Given the description of an element on the screen output the (x, y) to click on. 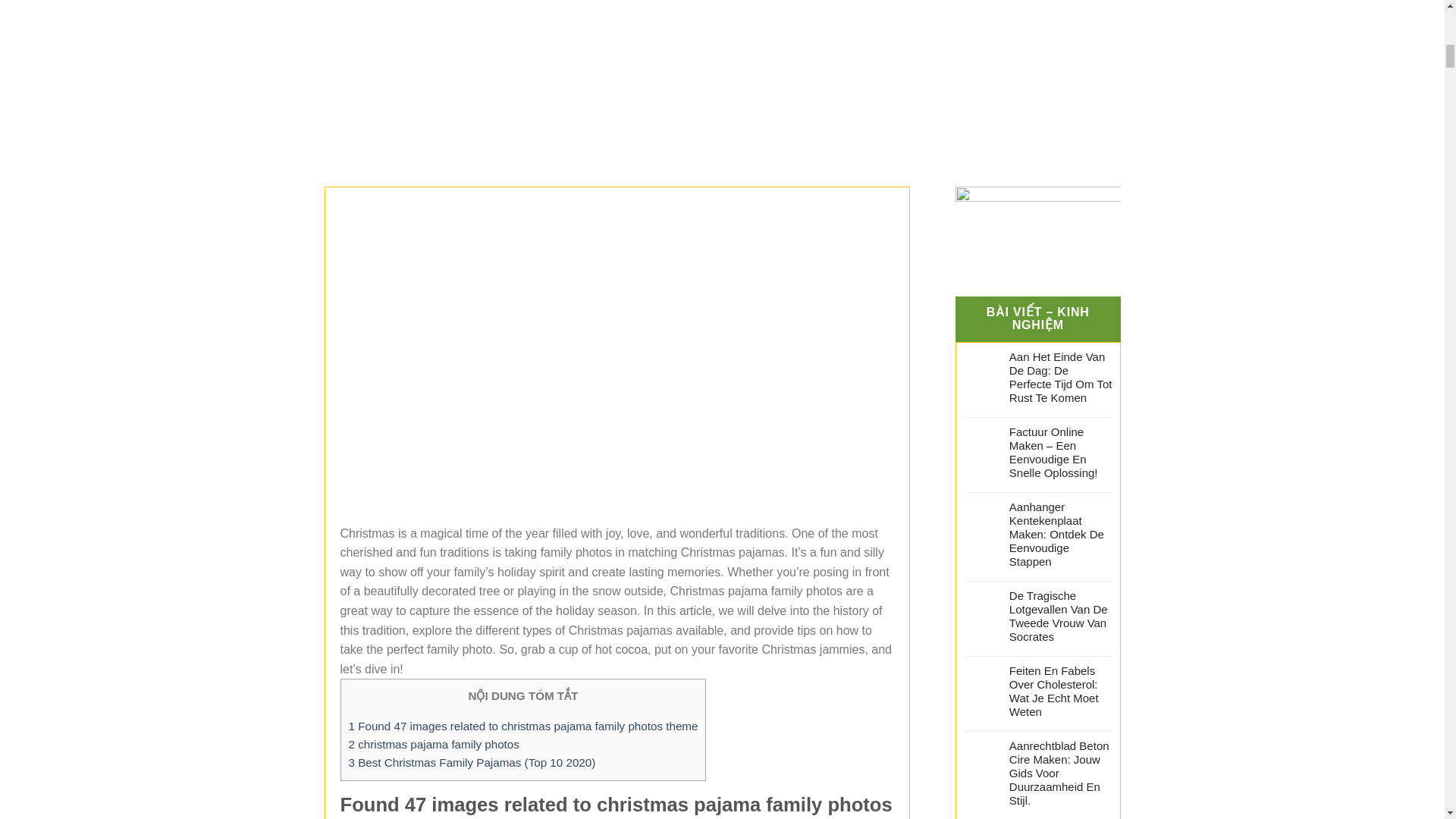
2 christmas pajama family photos (434, 744)
